Given the description of an element on the screen output the (x, y) to click on. 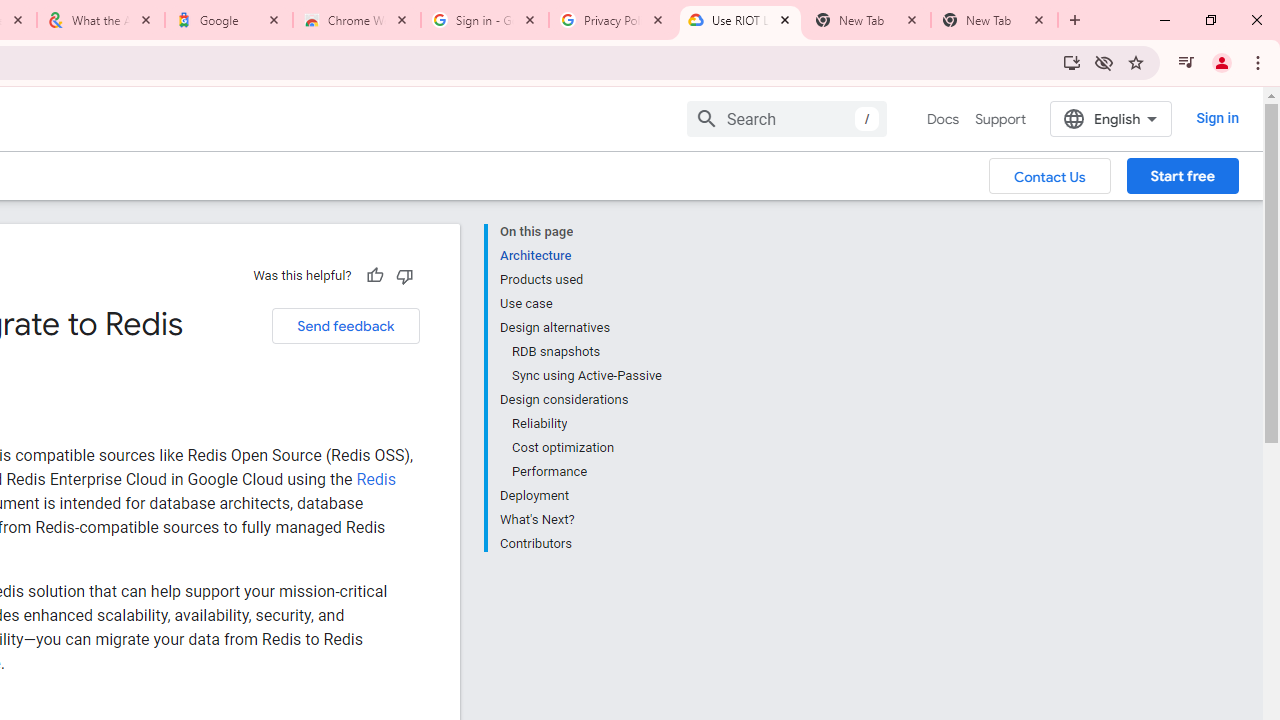
Send feedback (345, 326)
Install Google Cloud (1071, 62)
Docs, selected (942, 119)
Deployment (580, 495)
Design alternatives (580, 327)
Sign in - Google Accounts (485, 20)
Reliability (585, 423)
Google (229, 20)
Contact Us (1050, 175)
Sync using Active-Passive (585, 376)
